Given the description of an element on the screen output the (x, y) to click on. 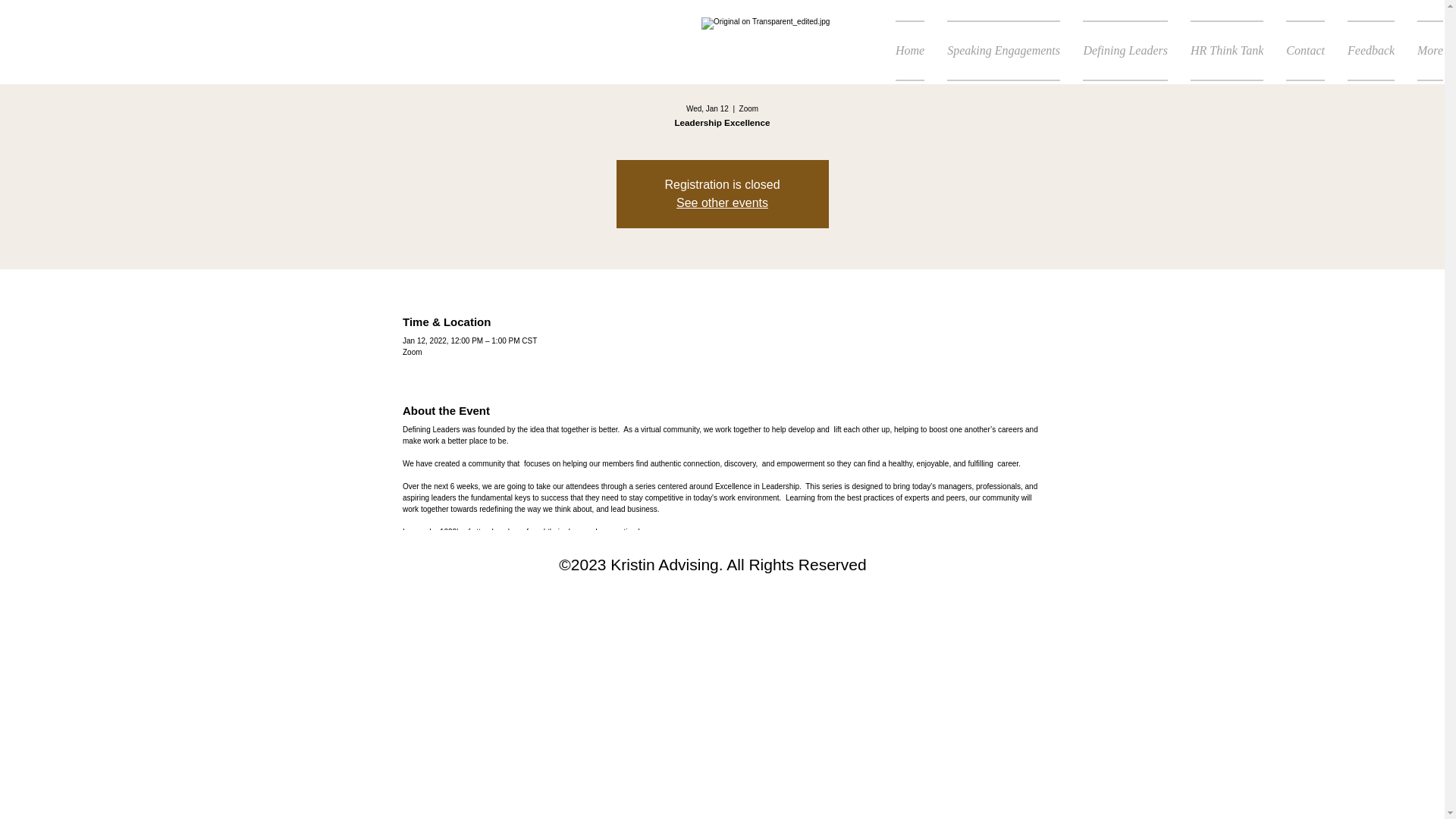
Defining Leaders (1125, 50)
Contact (1305, 50)
See other events (722, 202)
Speaking Engagements (1003, 50)
Original on Transparent.png (767, 50)
Feedback (1371, 50)
HR Think Tank (1227, 50)
